Given the description of an element on the screen output the (x, y) to click on. 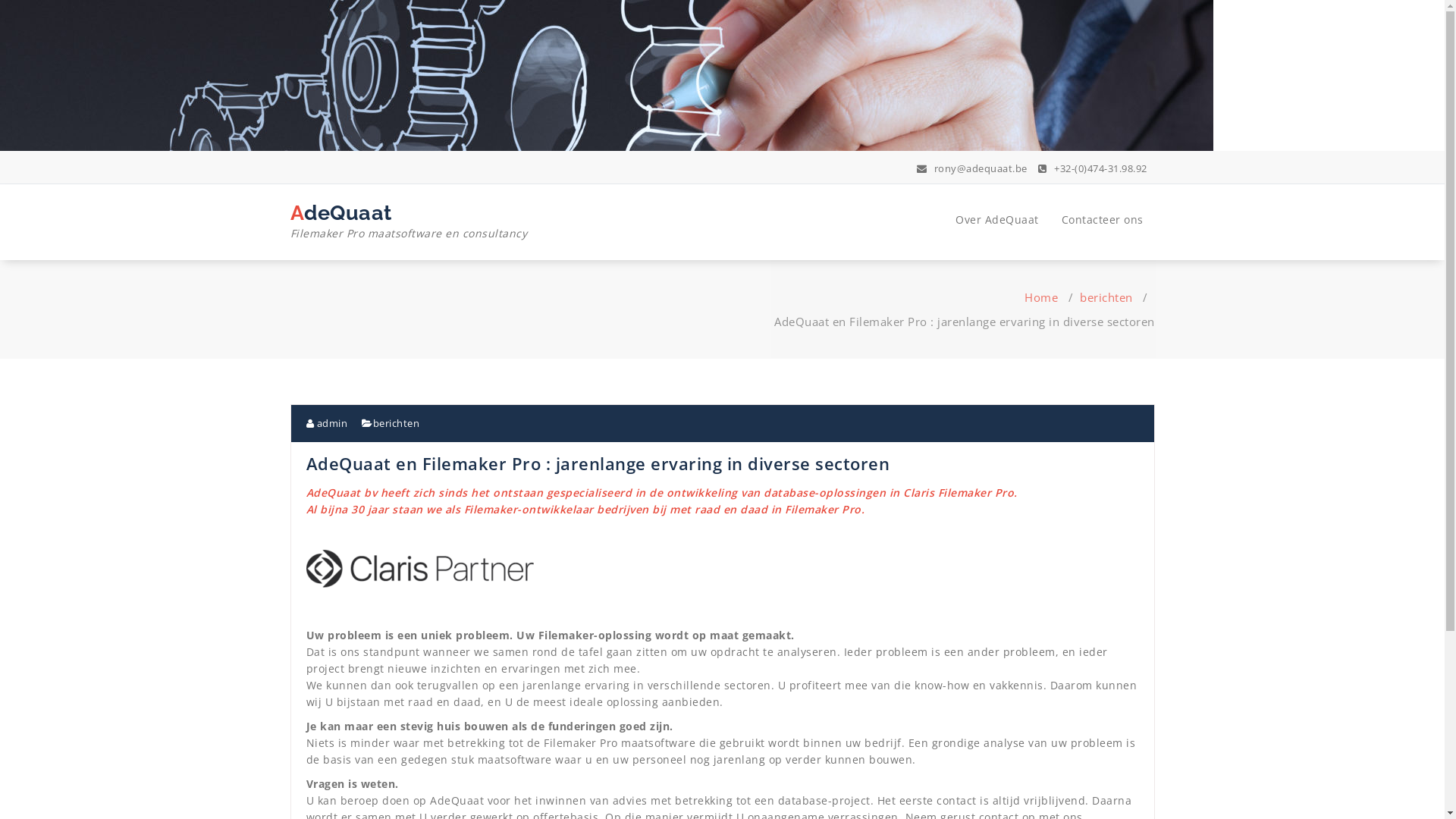
Home Element type: text (1040, 296)
AdeQuaat
Filemaker Pro maatsoftware en consultancy Element type: text (409, 224)
Contacteer ons Element type: text (1101, 219)
Skip to content Element type: text (0, 0)
admin Element type: text (327, 422)
+32-(0)474-31.98.92 Element type: text (1092, 168)
rony@adequaat.be Element type: text (971, 168)
berichten Element type: text (1105, 296)
berichten Element type: text (396, 422)
Over AdeQuaat Element type: text (997, 219)
